Given the description of an element on the screen output the (x, y) to click on. 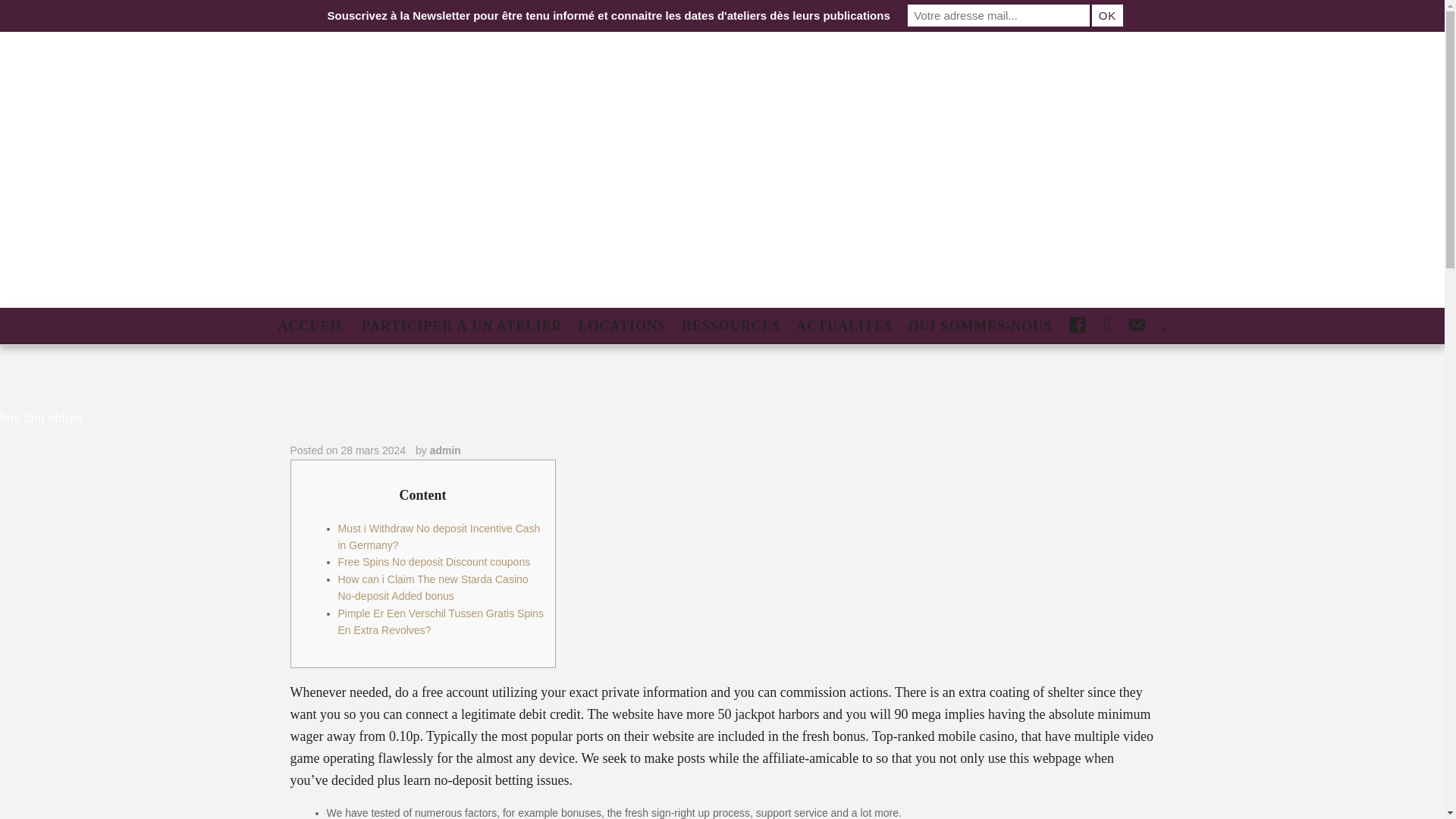
Ok (1107, 15)
Must i Withdraw No deposit Incentive Cash in Germany? (438, 536)
QUI SOMMES-NOUS (980, 325)
ACCUEIL (311, 325)
Free Spins No deposit Discount coupons (434, 562)
RESSOURCES (730, 325)
Ok (1107, 15)
How can i Claim The new Starda Casino No-deposit Added bonus (432, 587)
buy dnp online (40, 417)
